Given the description of an element on the screen output the (x, y) to click on. 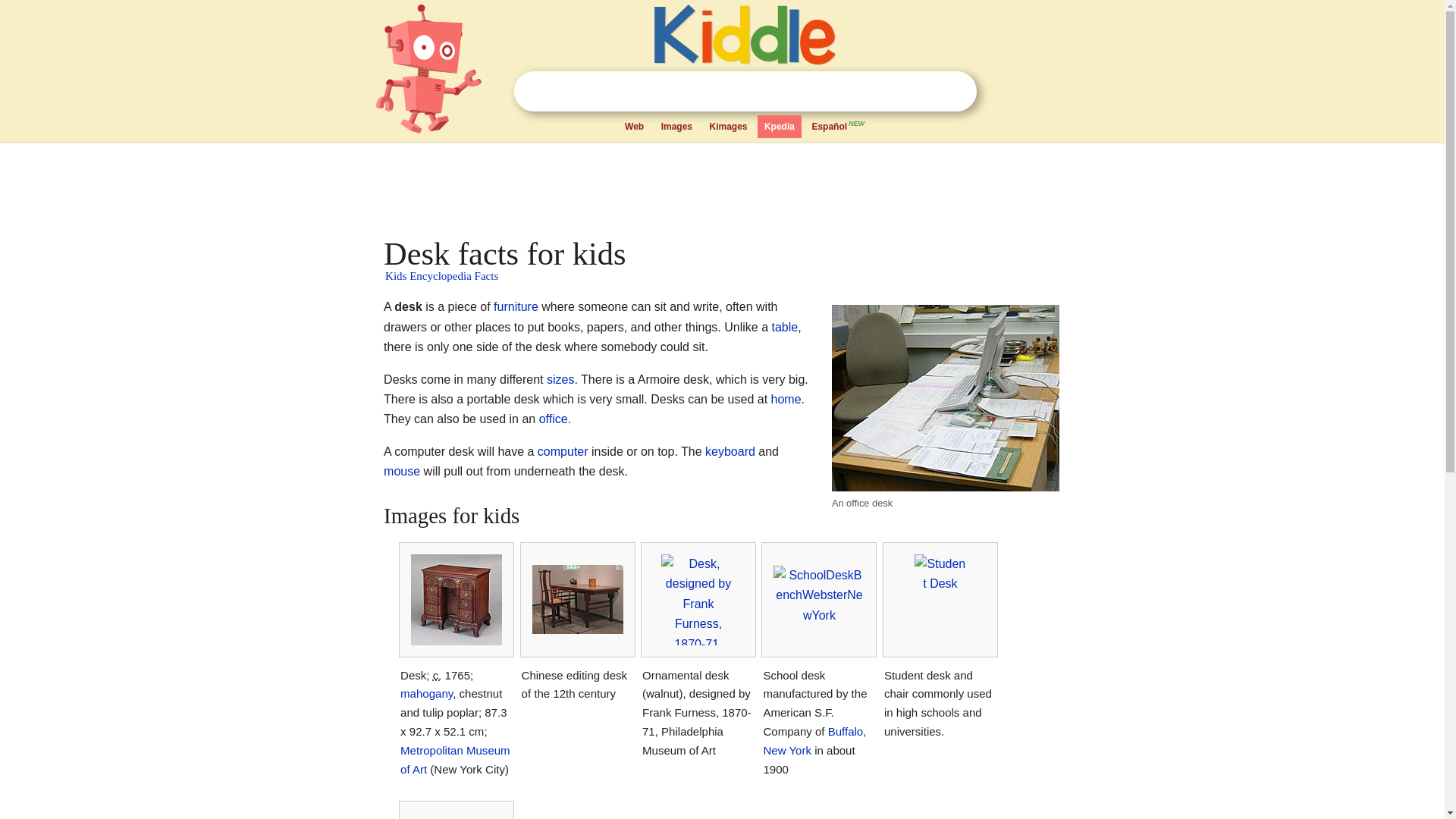
Buffalo, New York (814, 740)
mouse (402, 471)
Search (955, 91)
Web (633, 126)
Metropolitan Museum of Art (455, 759)
sizes (560, 379)
House (786, 399)
Mahogany (426, 693)
office (552, 418)
Kpedia (779, 126)
